Given the description of an element on the screen output the (x, y) to click on. 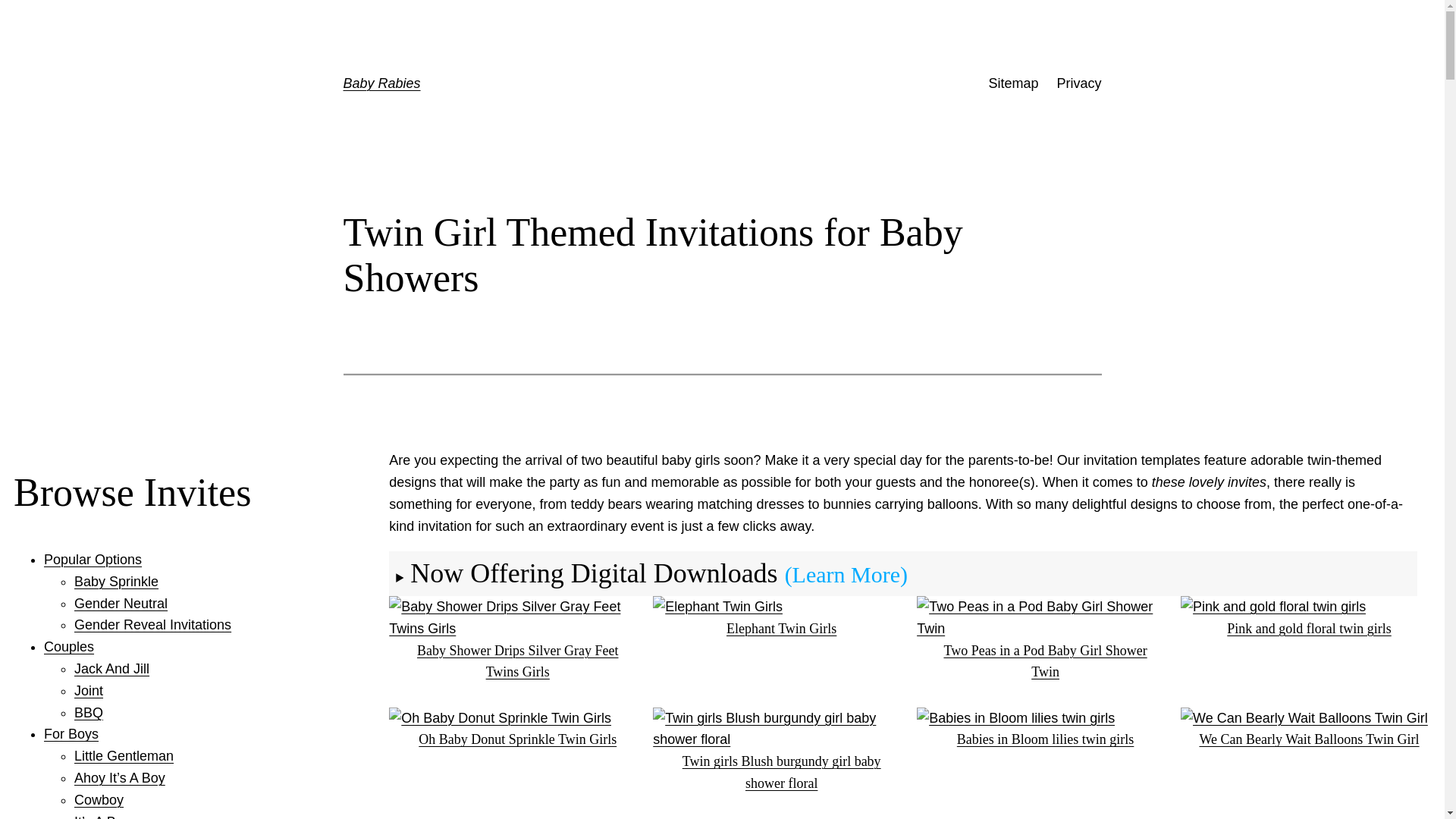
We Can Bearly Wait Balloons Twin Girl (1309, 730)
Baby Rabies (381, 83)
Sitemap (1013, 83)
Baby Shower Drips Silver Gray Feet Twins Girls (517, 651)
Pink and gold floral twin girls (1309, 618)
Privacy (1078, 83)
Oh Baby Donut Sprinkle Twin Girls (517, 730)
Twin girls Blush burgundy girl baby shower floral (781, 762)
Babies in Bloom lilies twin girls (1045, 730)
Two Peas in a Pod Baby Girl Shower Twin (1045, 651)
Elephant Twin Girls (781, 618)
